Given the description of an element on the screen output the (x, y) to click on. 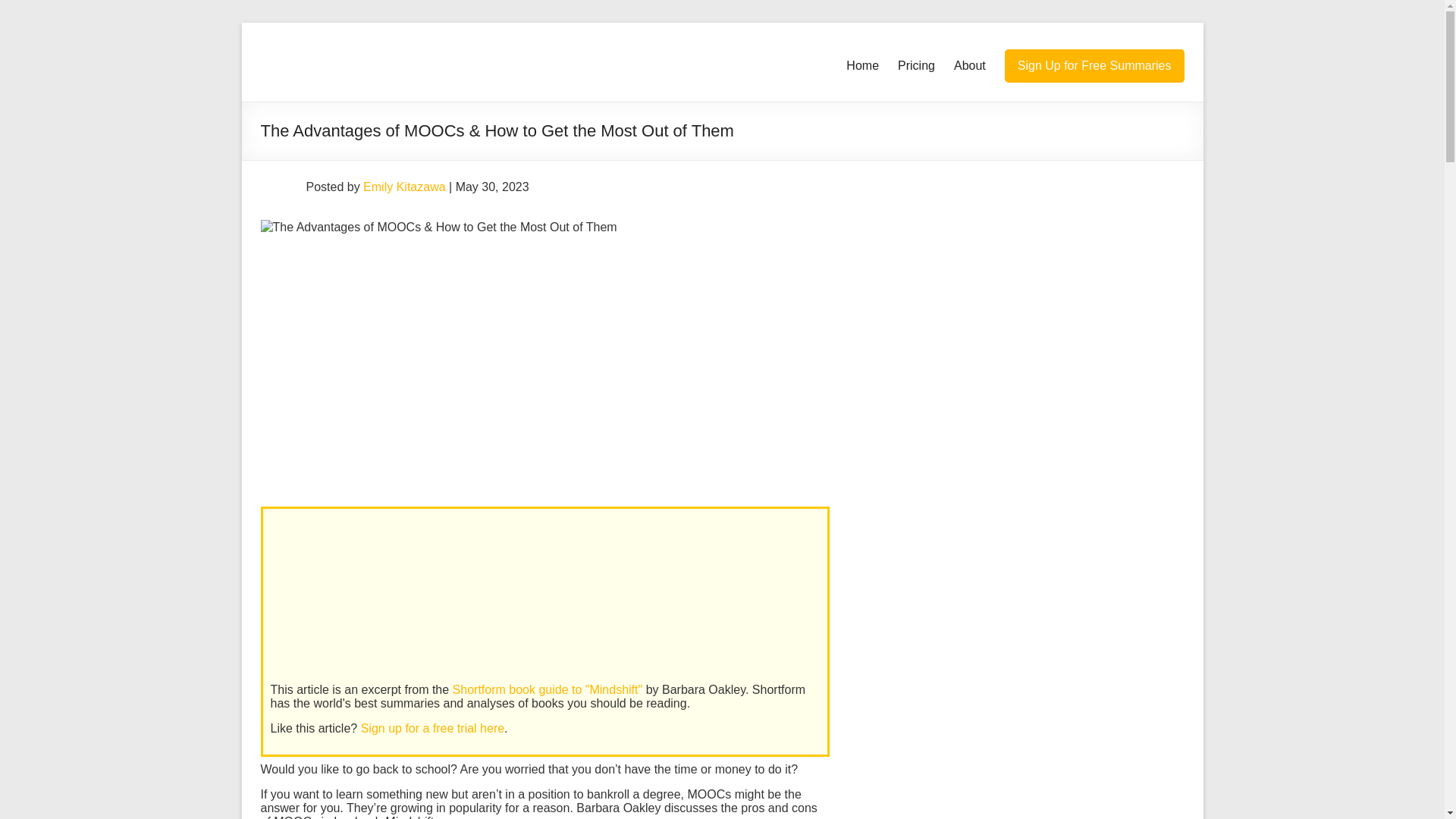
About (969, 65)
Shortform book guide to "Mindshift" (547, 689)
Emily Kitazawa (403, 186)
Pricing (916, 65)
Sign up for a free trial here (432, 727)
Sign Up for Free Summaries (1094, 65)
Home (862, 65)
